Given the description of an element on the screen output the (x, y) to click on. 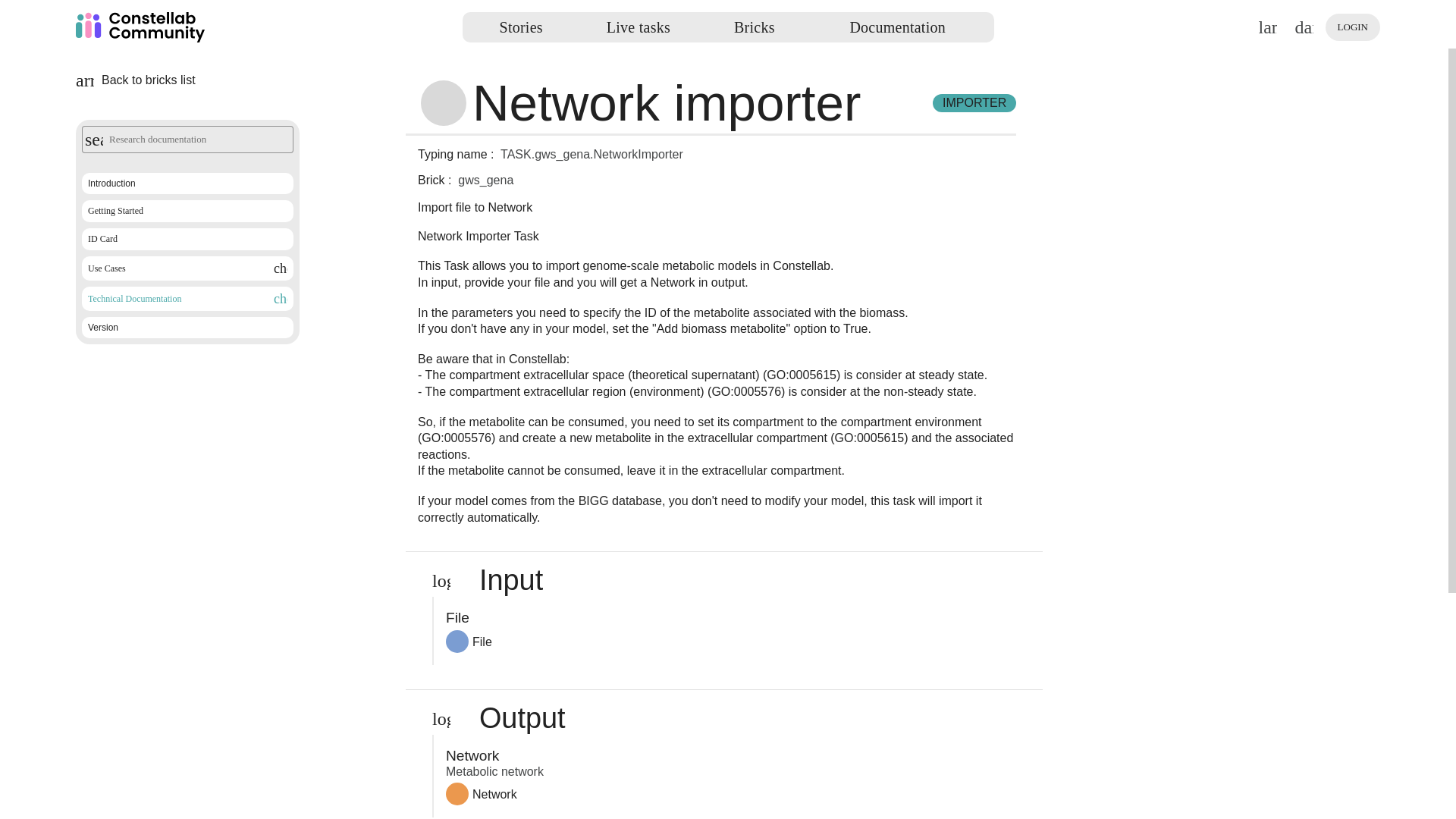
Stories (521, 27)
Version (187, 327)
Bricks (753, 27)
ID Card (186, 238)
Network (480, 793)
language (1267, 27)
Getting Started (186, 211)
Introduction (187, 183)
LOGIN (1352, 26)
File (468, 640)
